Given the description of an element on the screen output the (x, y) to click on. 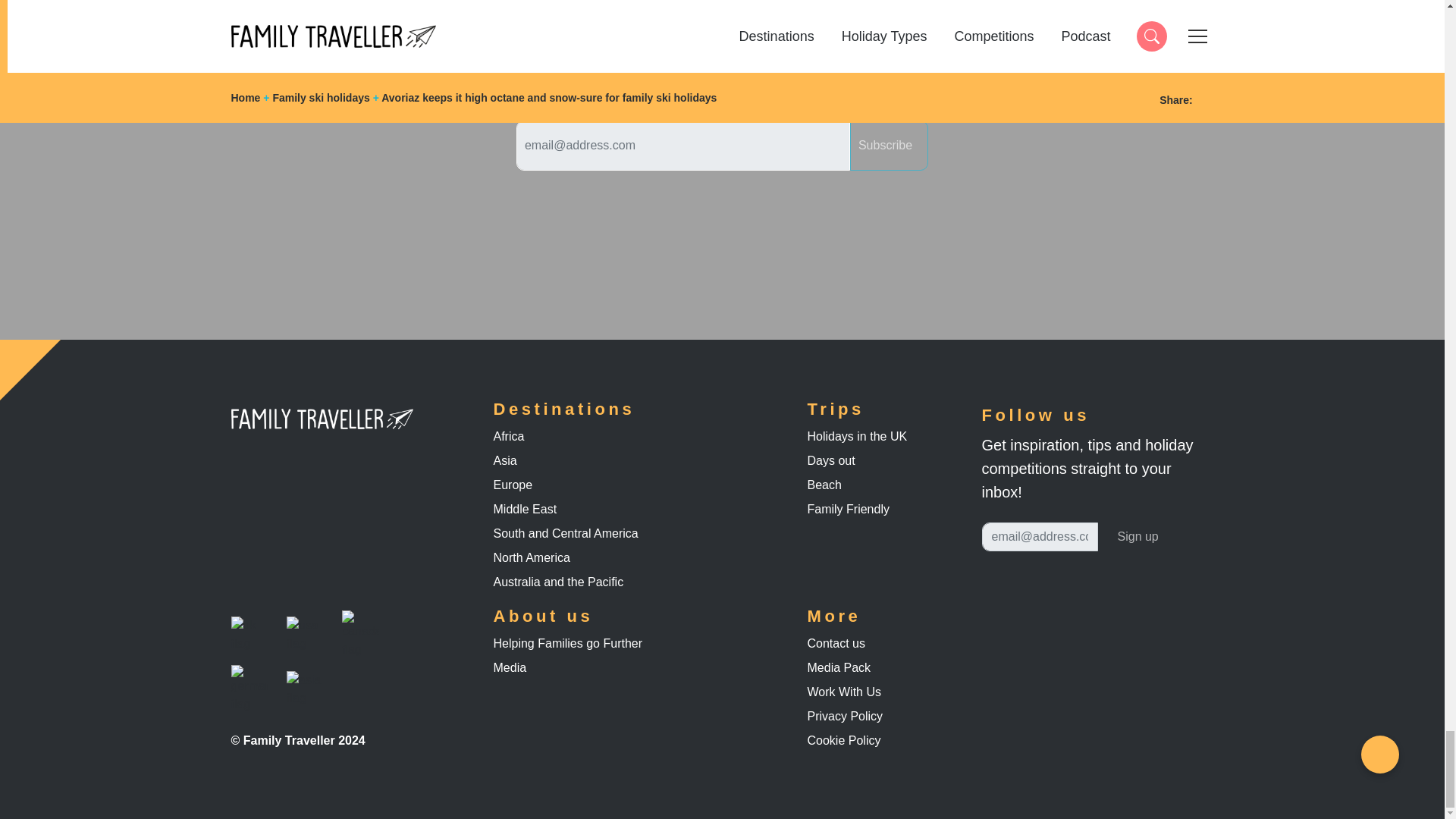
Visit Family Traveller Canada (360, 634)
Sign up (1137, 536)
Subscribe (889, 145)
Visit Family Traveller Asia (304, 688)
Visit Family Traveller USA (304, 634)
Visit Family Traveller UK (248, 634)
Visit Family Traveller DE (248, 688)
